Given the description of an element on the screen output the (x, y) to click on. 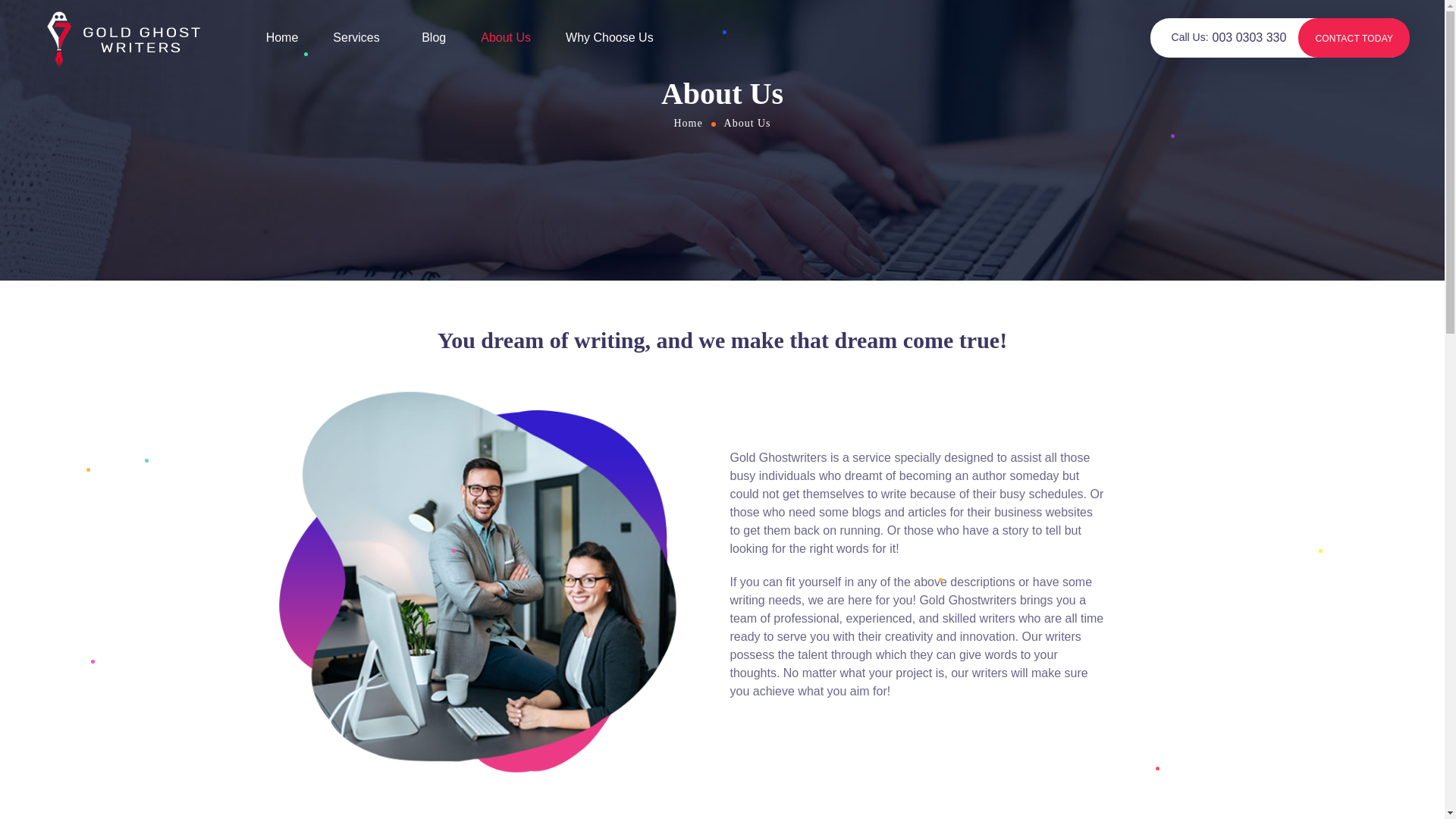
003 0303 330 (1249, 37)
CONTACT TODAY (1353, 37)
Why Choose Us (609, 37)
Home (687, 122)
